Given the description of an element on the screen output the (x, y) to click on. 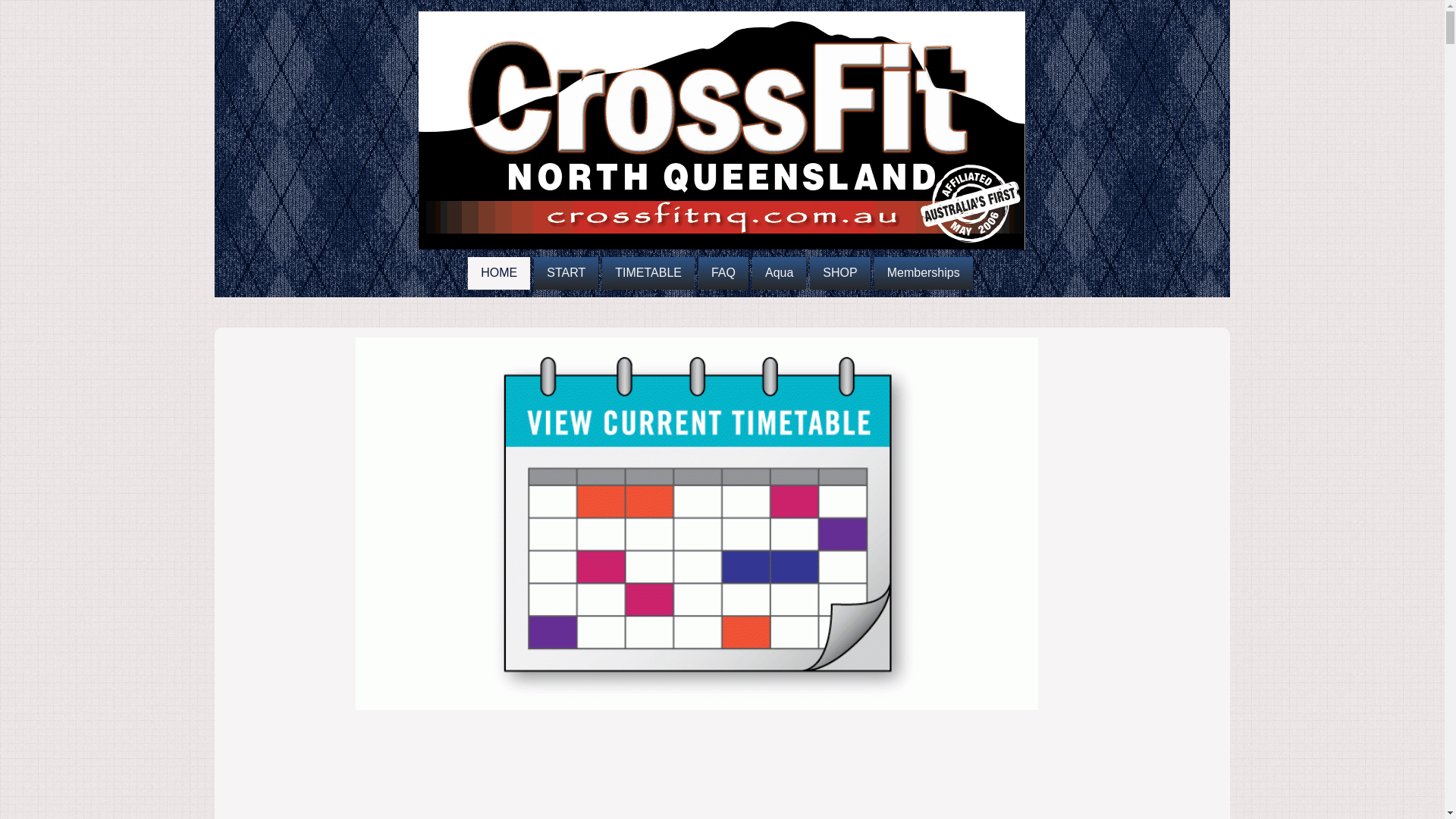
Timetable Element type: hover (696, 523)
FAQ Element type: text (723, 273)
Memberships Element type: text (923, 273)
SHOP Element type: text (839, 273)
TIMETABLE Element type: text (648, 273)
START Element type: text (565, 273)
HOME Element type: text (498, 273)
Aqua Element type: text (779, 273)
